Given the description of an element on the screen output the (x, y) to click on. 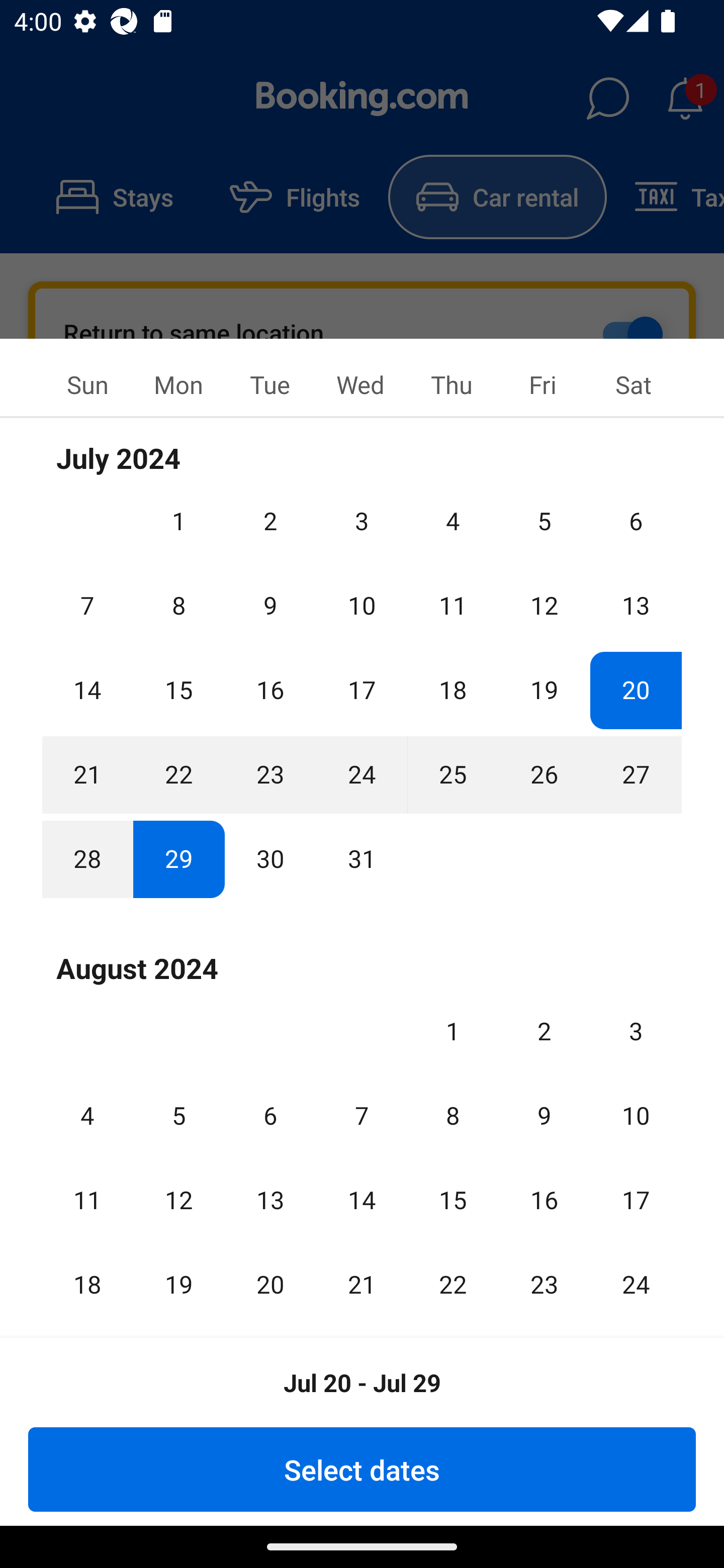
Select dates (361, 1468)
